Given the description of an element on the screen output the (x, y) to click on. 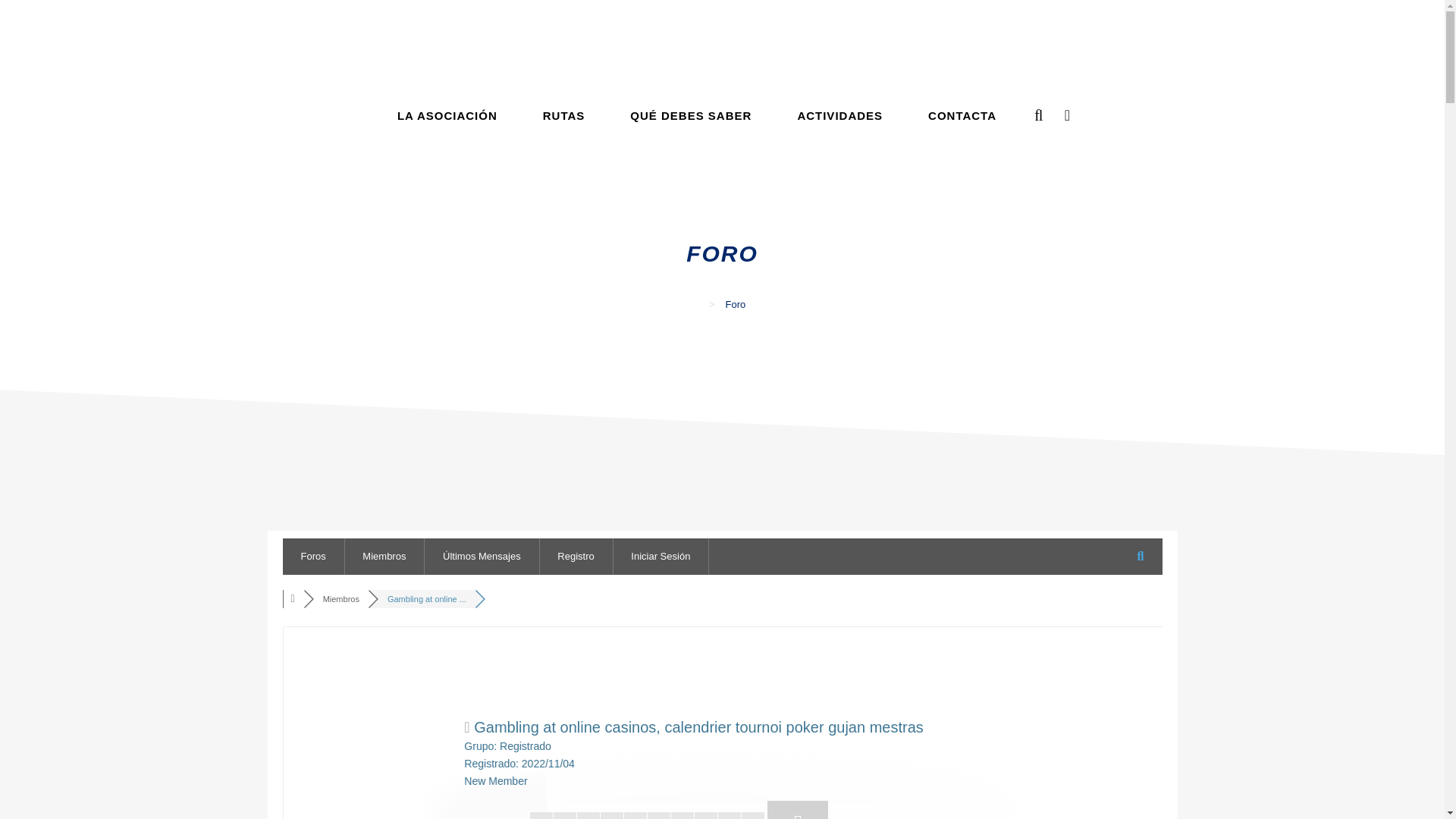
Rating Title (495, 780)
Foros (293, 598)
Emblema del Nivel (797, 809)
Nivel del Usuario (647, 815)
